Given the description of an element on the screen output the (x, y) to click on. 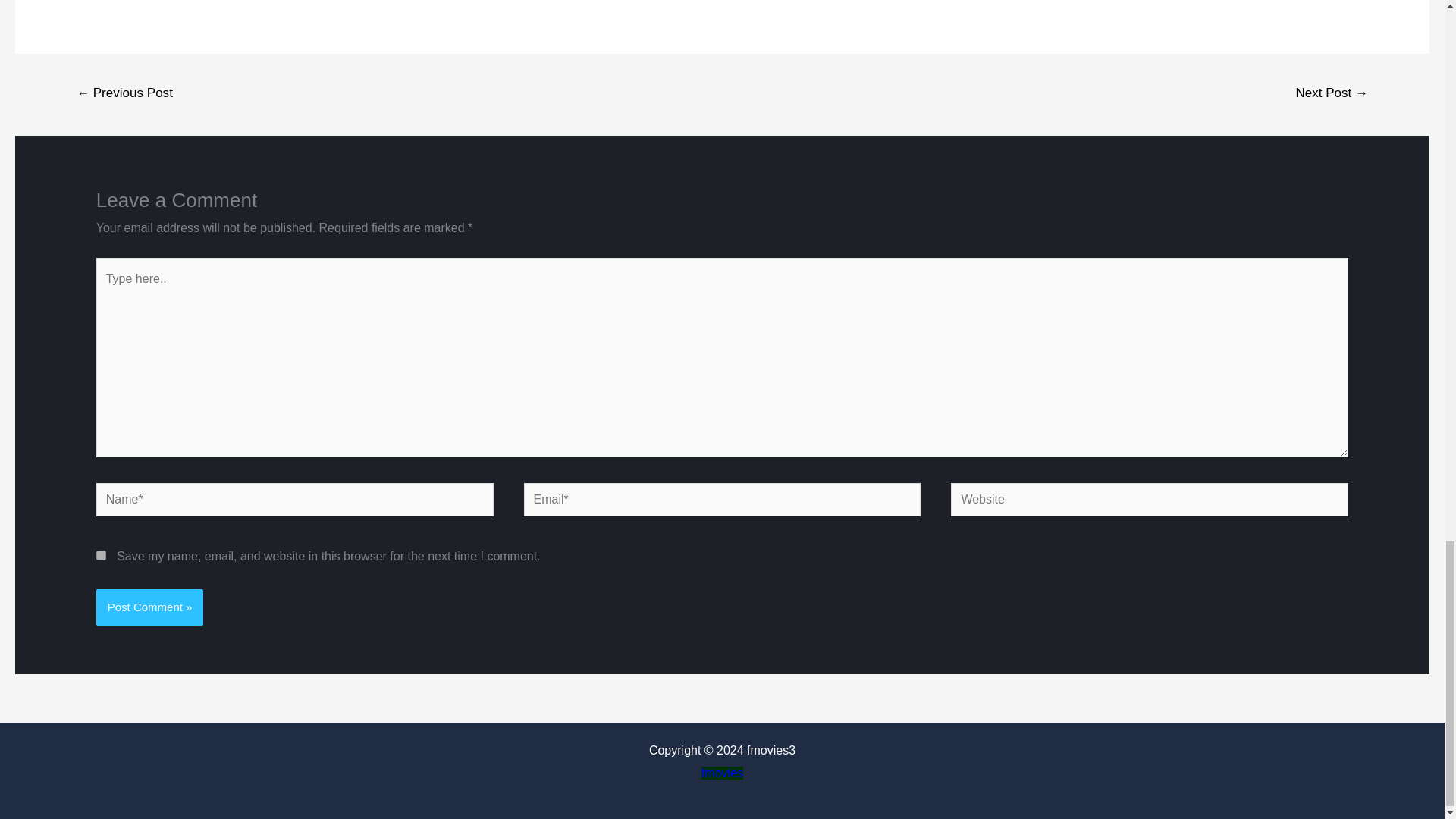
fmovies (721, 772)
yes (101, 555)
